Given the description of an element on the screen output the (x, y) to click on. 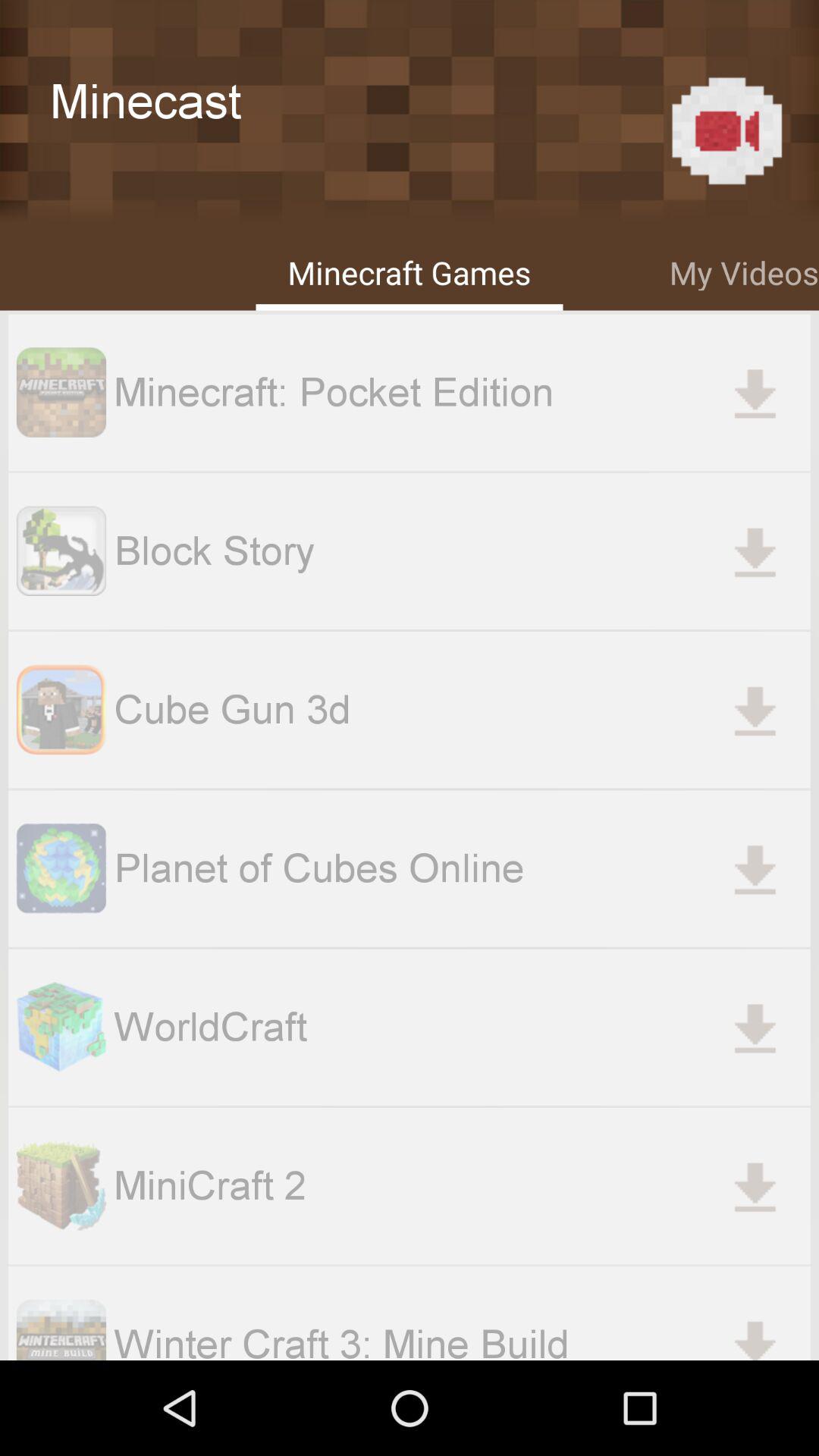
swipe until block story item (462, 550)
